Given the description of an element on the screen output the (x, y) to click on. 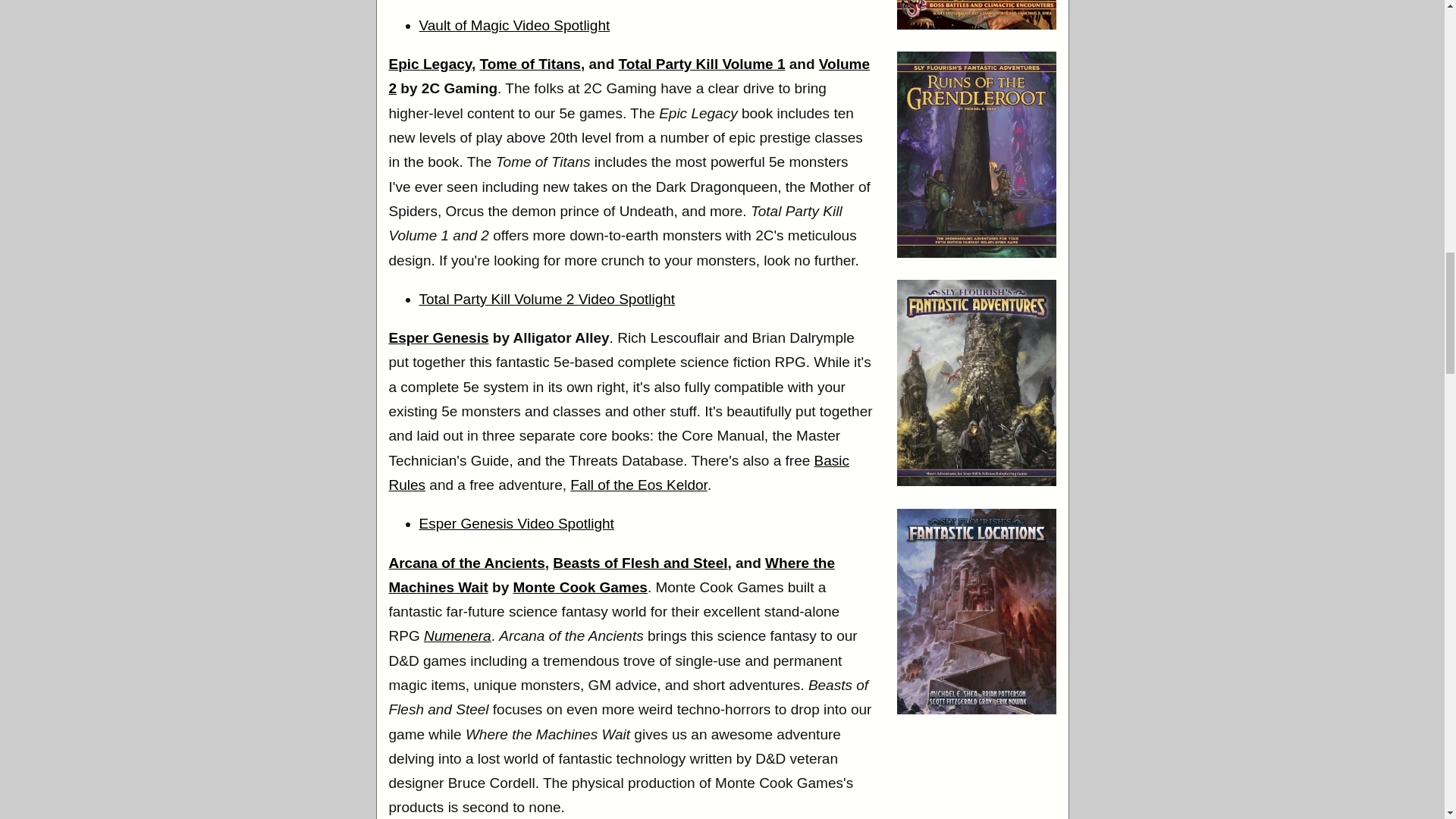
Vault of Magic Video Spotlight (514, 25)
Numenera (457, 635)
Esper Genesis Video Spotlight (515, 523)
Basic Rules (618, 472)
Arcana of the Ancients (466, 562)
Where the Machines Wait (611, 575)
Volume 2 (628, 76)
Epic Legacy (429, 64)
Beasts of Flesh and Steel (639, 562)
Esper Genesis (437, 337)
Fall of the Eos Keldor (638, 484)
Total Party Kill Volume 1 (702, 64)
Monte Cook Games (579, 587)
Tome of Titans (530, 64)
Total Party Kill Volume 2 Video Spotlight (547, 299)
